Given the description of an element on the screen output the (x, y) to click on. 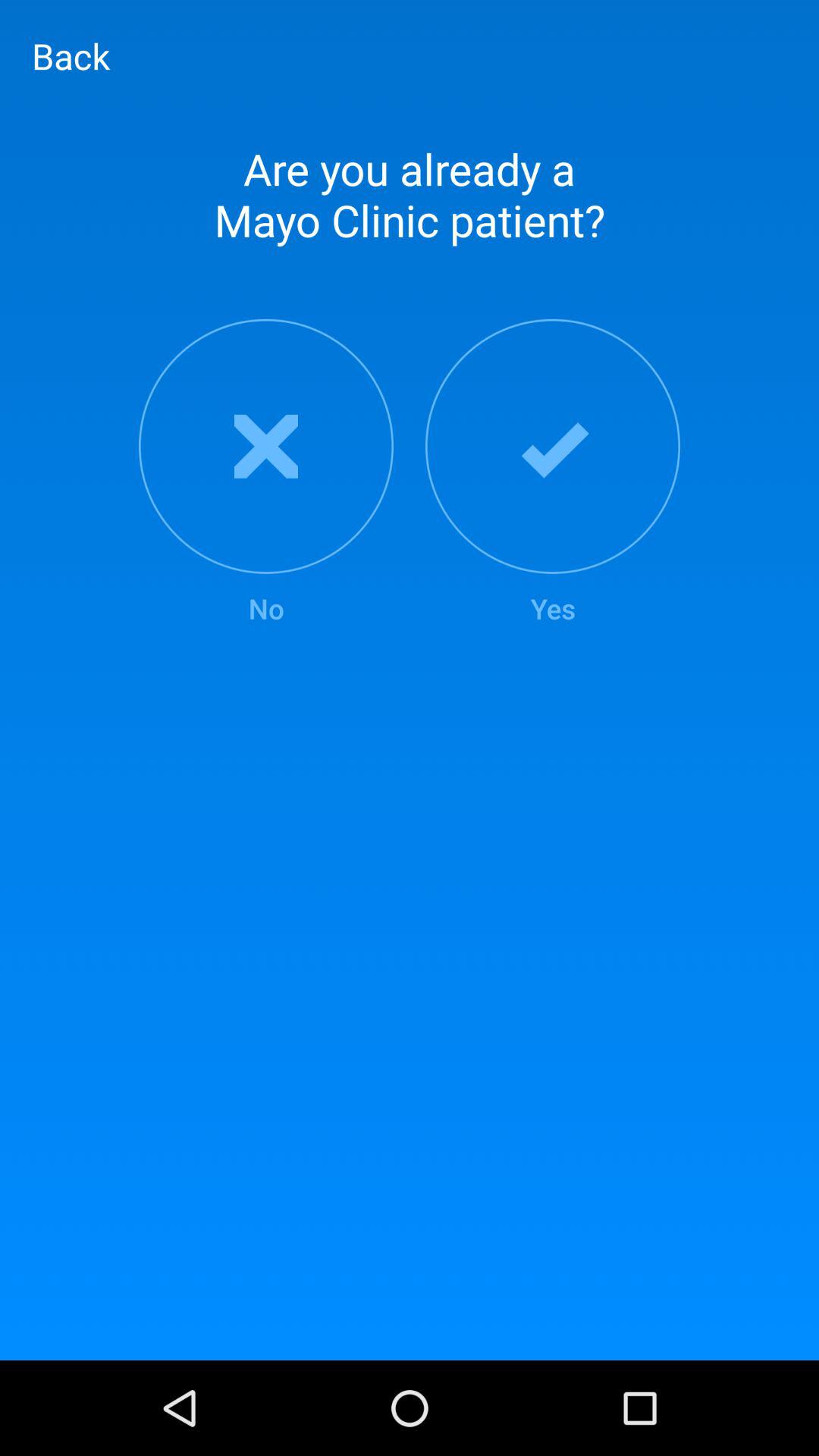
turn off no icon (265, 473)
